Given the description of an element on the screen output the (x, y) to click on. 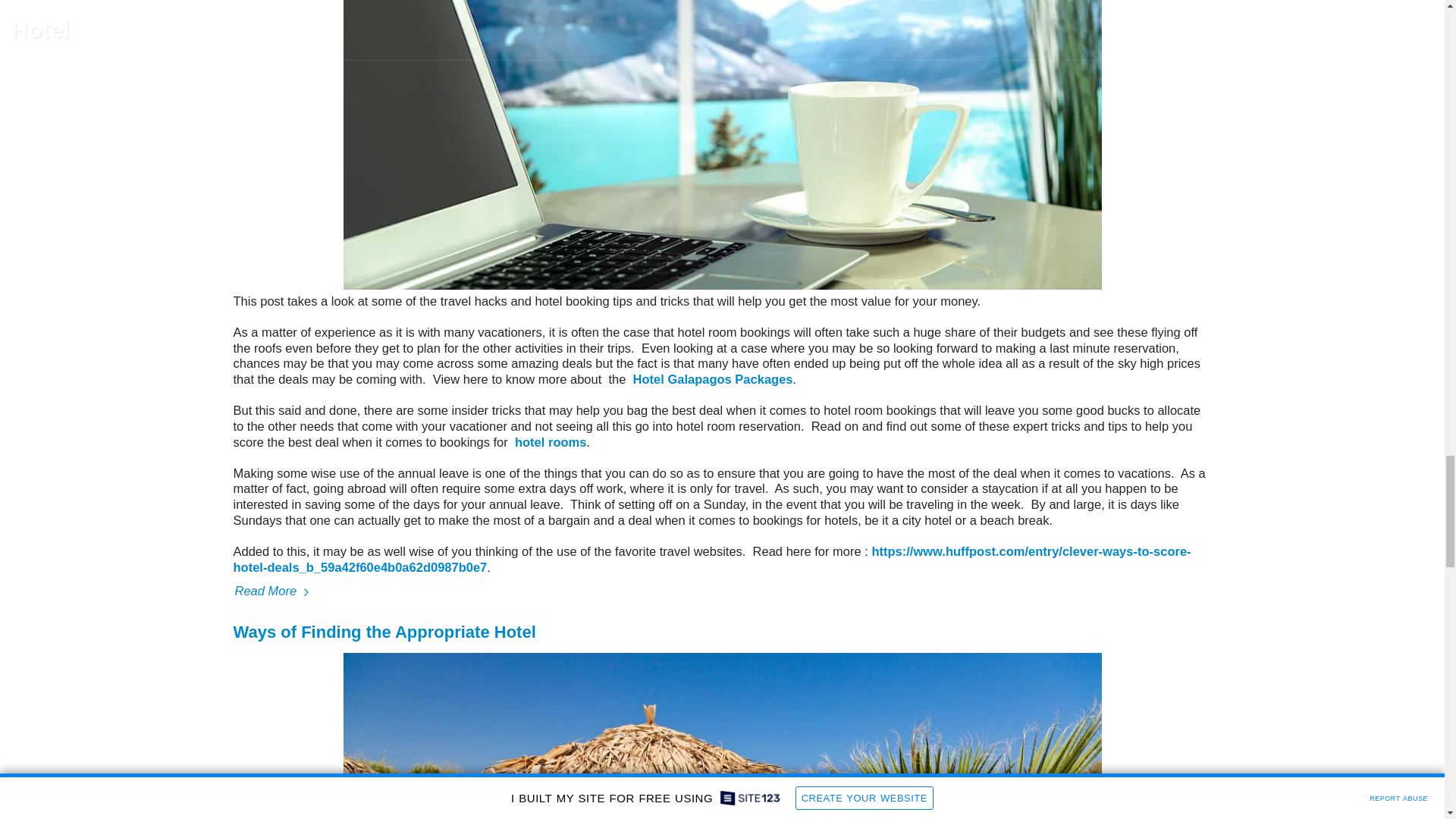
Ways of Finding the Appropriate Hotel (383, 631)
 hotel rooms (548, 441)
Read More   (721, 591)
 Hotel Galapagos Packages (710, 378)
